Given the description of an element on the screen output the (x, y) to click on. 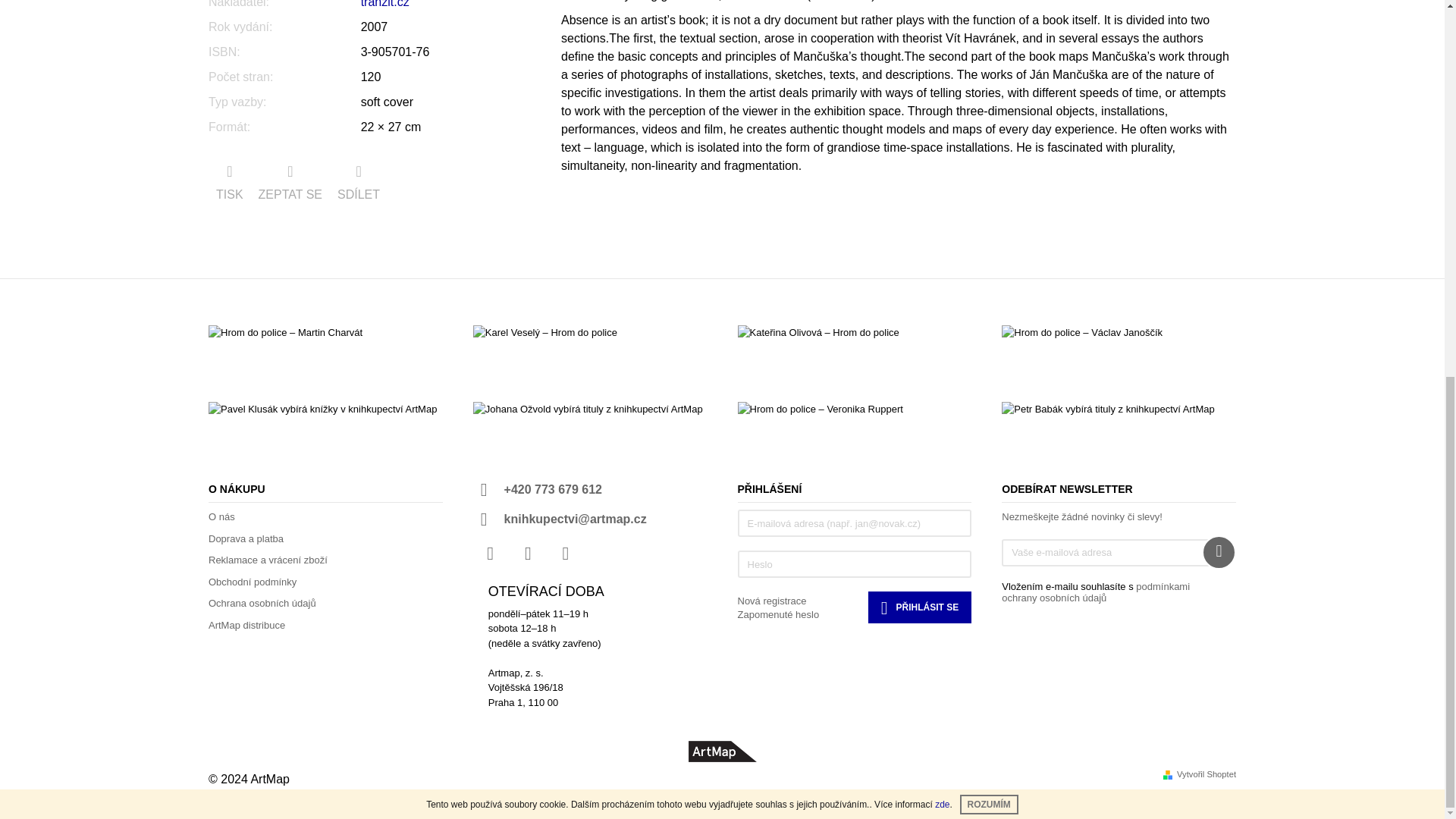
Mluvit s prodejcem (290, 183)
Tisknout produkt (229, 183)
